Given the description of an element on the screen output the (x, y) to click on. 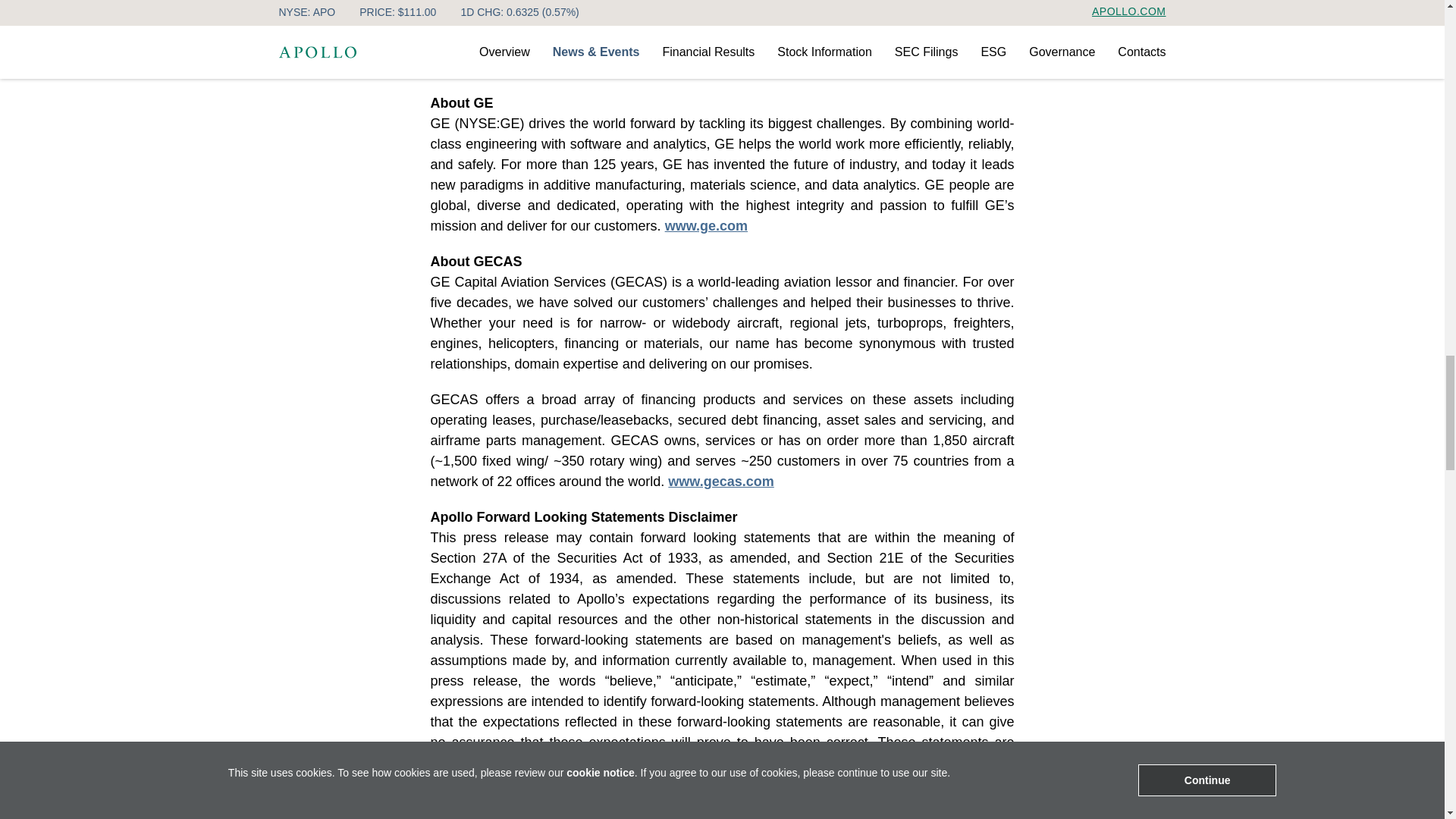
Opens in a new window (816, 67)
Opens in a new window (706, 225)
Opens in a new window (720, 481)
